Given the description of an element on the screen output the (x, y) to click on. 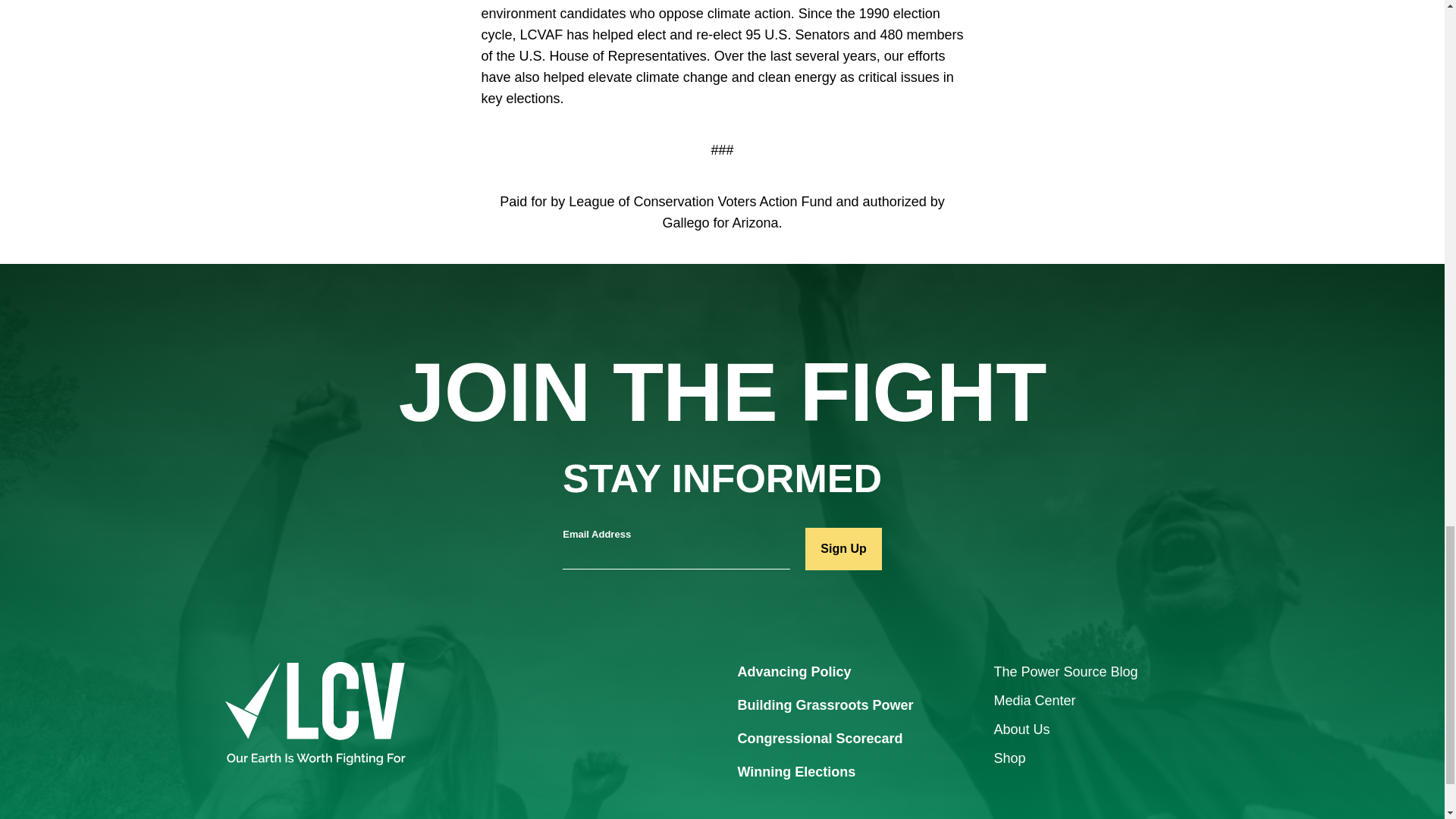
Congressional Scorecard (819, 739)
Media Center (1033, 700)
Winning Elections (796, 772)
Advancing Policy (793, 672)
Sign Up (842, 548)
Sign Up (842, 548)
Building Grassroots Power (824, 706)
The Power Source Blog (1064, 670)
